Given the description of an element on the screen output the (x, y) to click on. 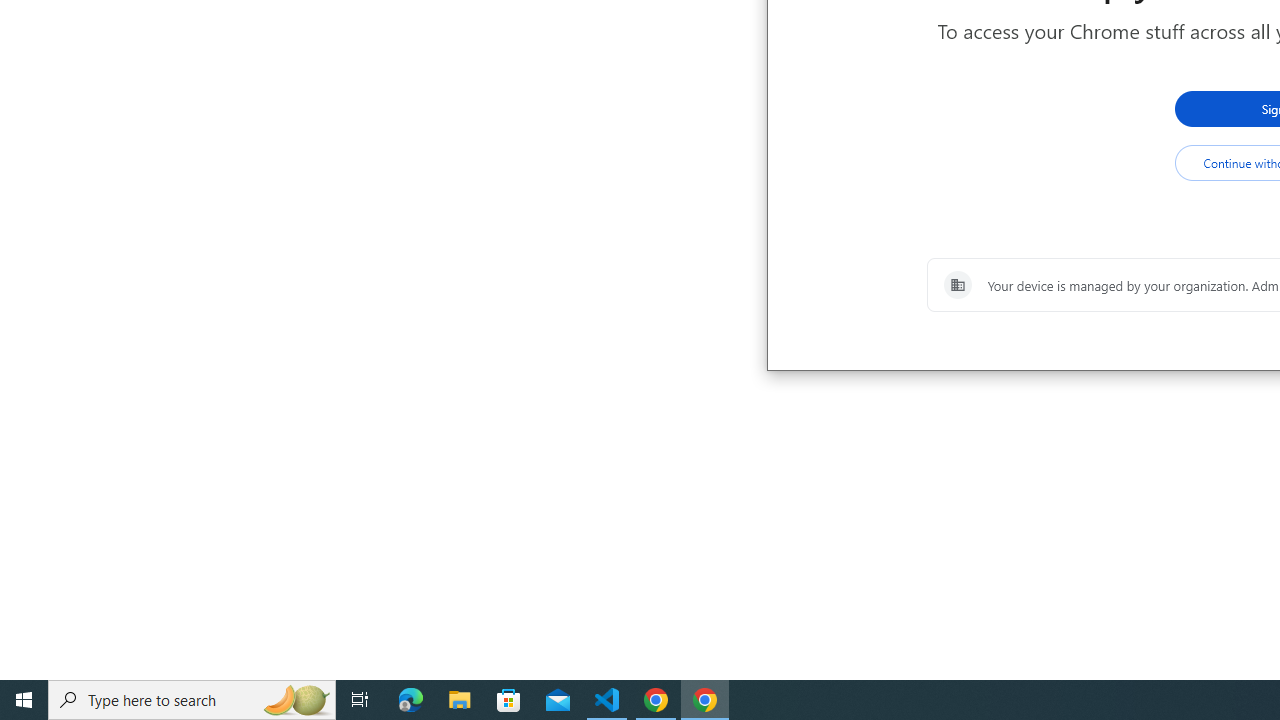
Start (24, 699)
Microsoft Store (509, 699)
Microsoft Edge (411, 699)
Search highlights icon opens search home window (295, 699)
File Explorer (460, 699)
Type here to search (191, 699)
Visual Studio Code - 1 running window (607, 699)
Task View (359, 699)
Google Chrome - 1 running window (704, 699)
